Given the description of an element on the screen output the (x, y) to click on. 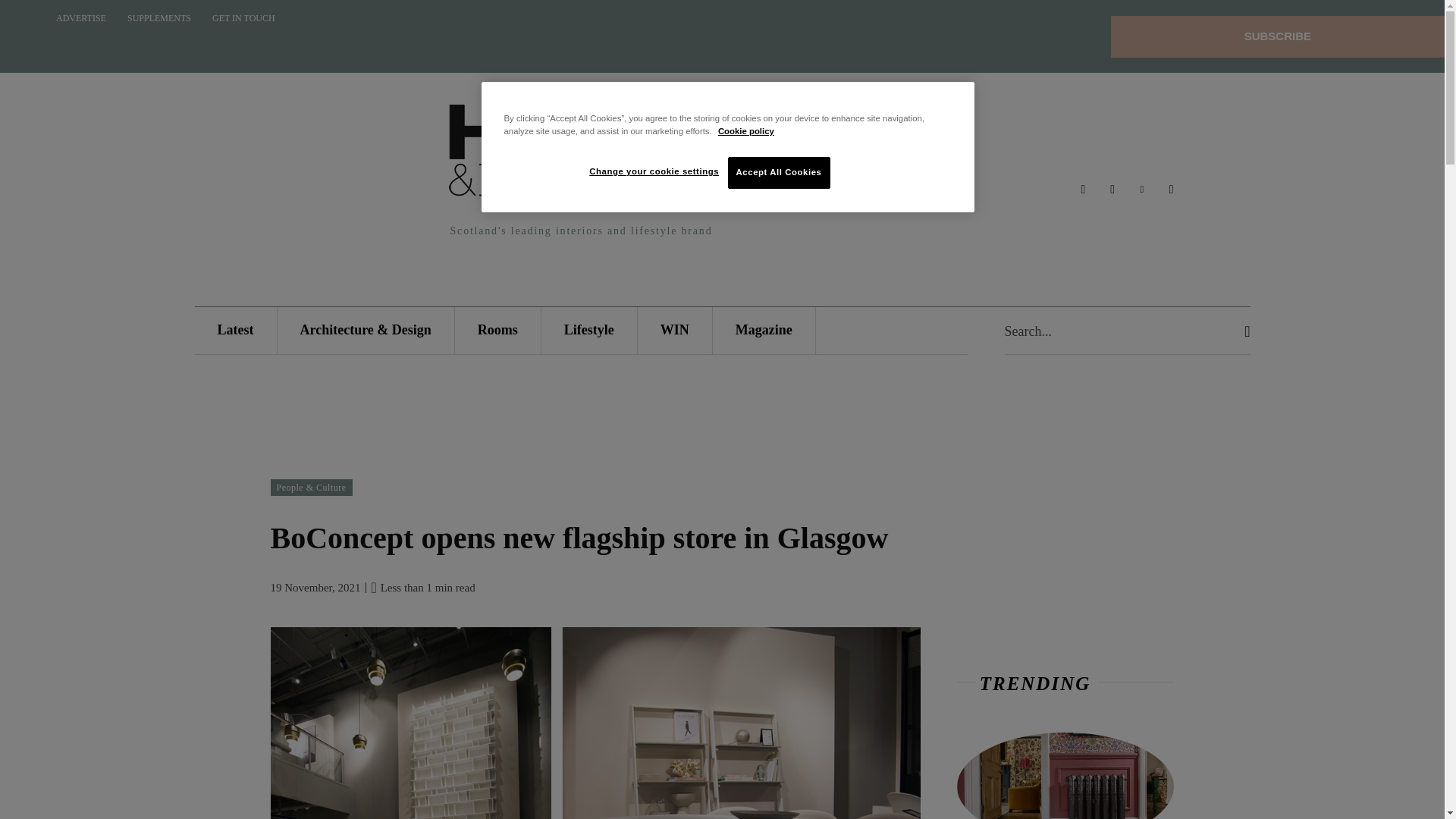
Latest (234, 329)
Rooms (497, 329)
Facebook (1082, 189)
Scotland's leading interiors and lifestyle brand (580, 171)
The cast iron radiator trends that you need to know about (1065, 775)
Pinterest (1142, 189)
WIN (674, 329)
ADVERTISE (80, 18)
SUPPLEMENTS (159, 18)
Homes and Interiors Scotland logo (581, 155)
GET IN TOUCH (243, 18)
Homes and Interiors Scotland logo (580, 171)
Lifestyle (589, 329)
Twitter (1171, 189)
Instagram (1113, 189)
